Given the description of an element on the screen output the (x, y) to click on. 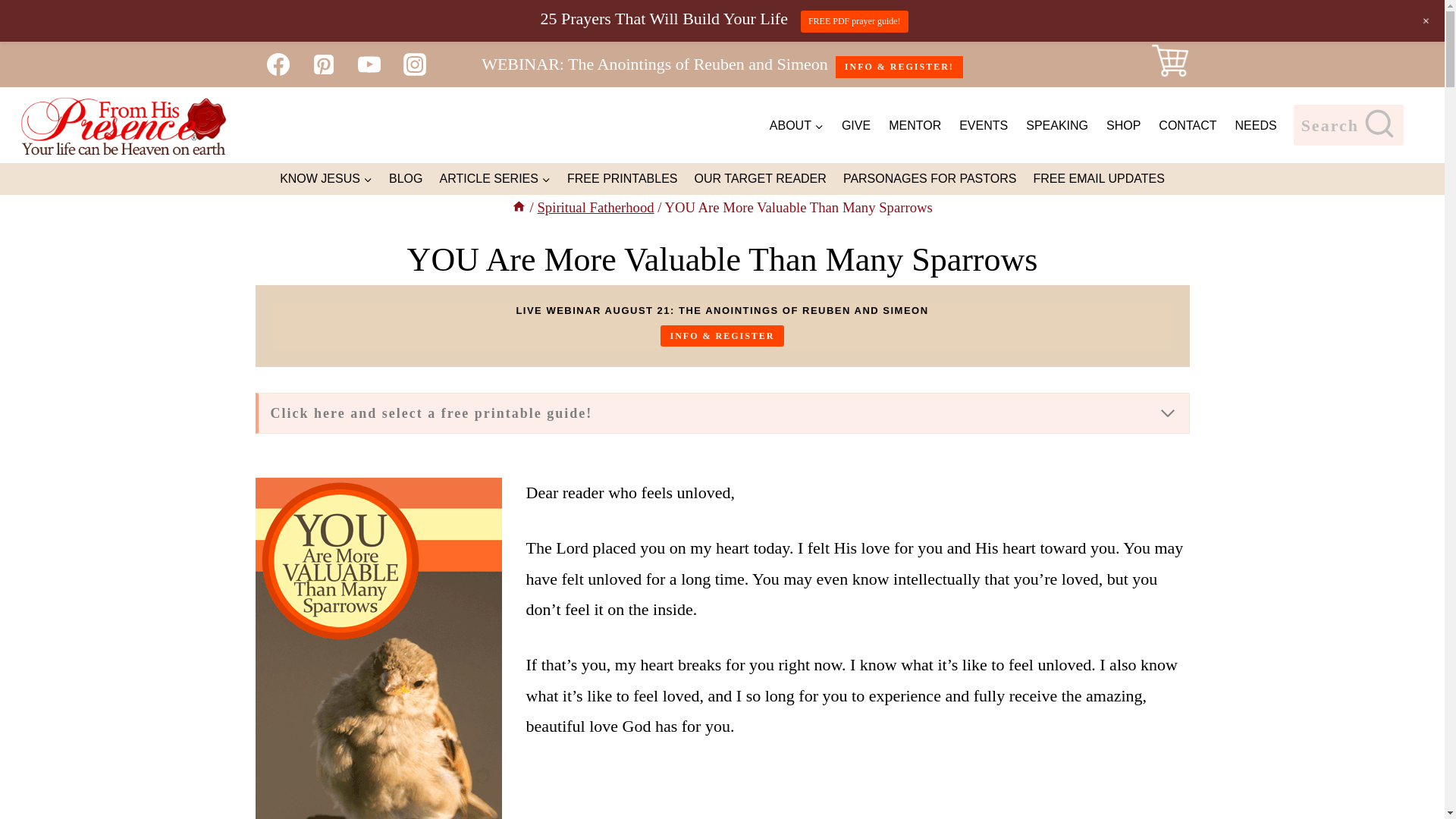
Home (518, 207)
SPEAKING (1056, 124)
MENTOR (914, 124)
CONTACT (1187, 124)
BLOG (405, 178)
KNOW JESUS (325, 178)
ABOUT (796, 124)
Search (1348, 124)
ARTICLE SERIES (493, 178)
